Given the description of an element on the screen output the (x, y) to click on. 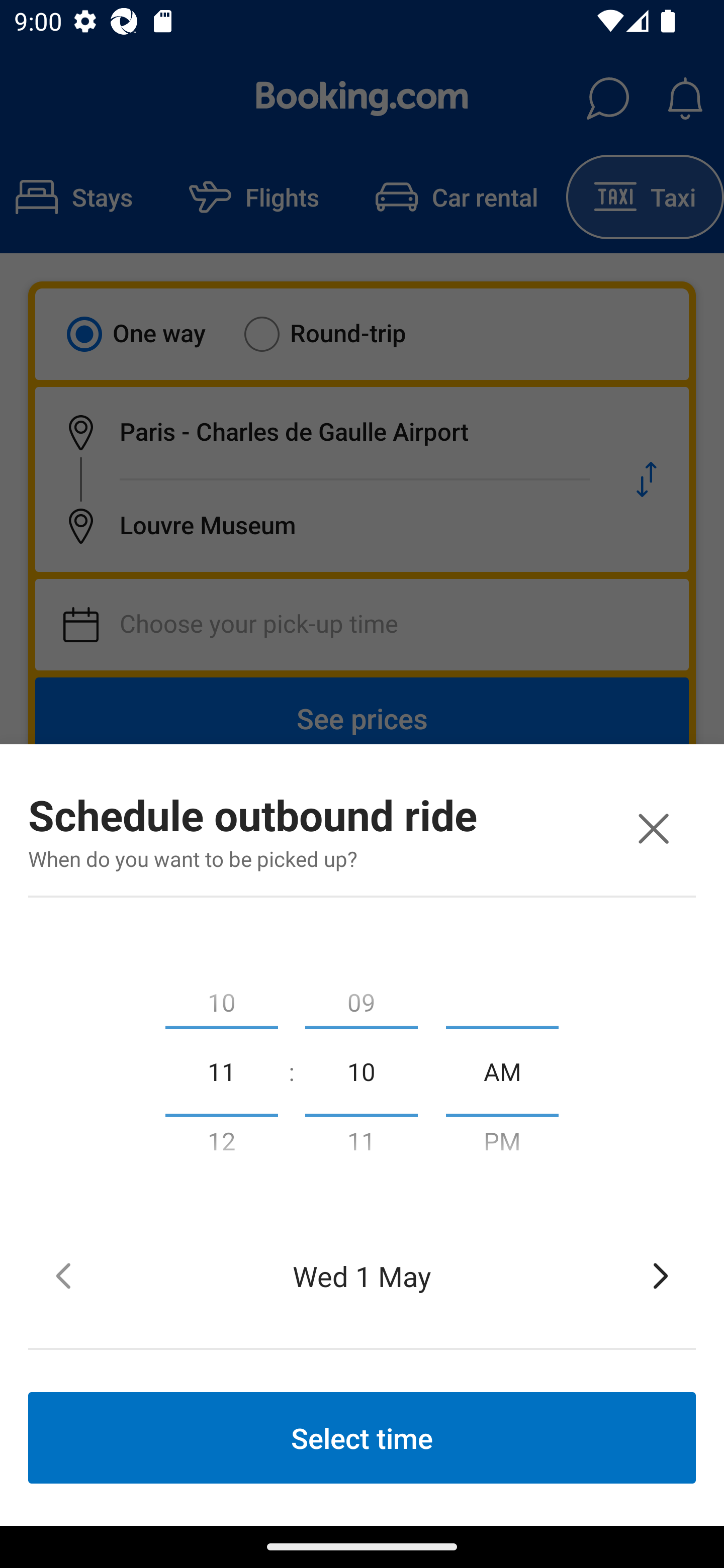
Close window (653, 828)
10 (221, 997)
09 (361, 997)
11 (221, 1070)
10 (361, 1070)
AM (501, 1070)
12 (221, 1144)
11 (361, 1144)
PM (501, 1144)
Tap to move back to the previous date (63, 1275)
Tap to move forward to the next date (660, 1275)
Wed 1 May Selected date, Wednesday, 1 May (361, 1275)
Select time (361, 1437)
